Given the description of an element on the screen output the (x, y) to click on. 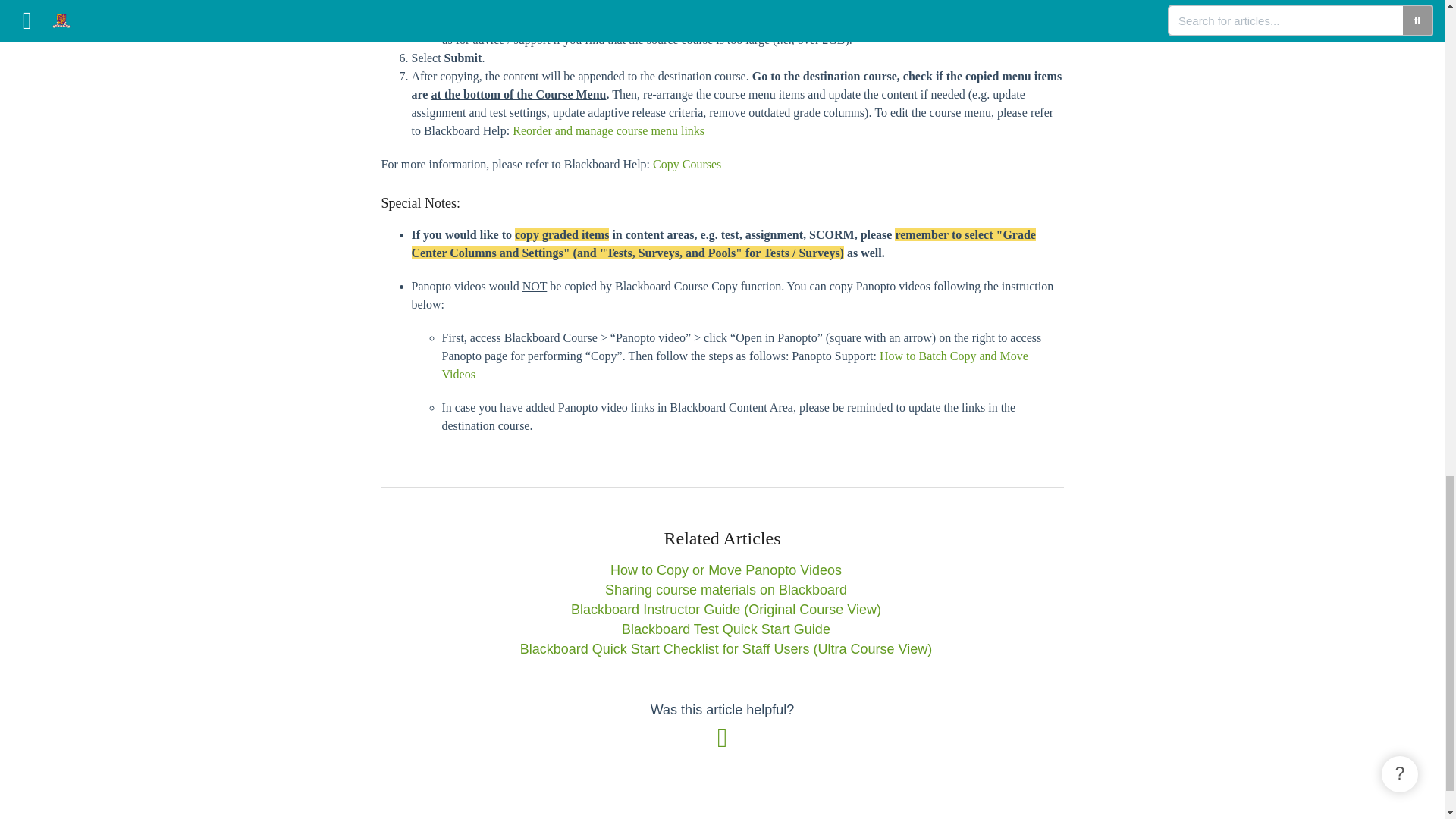
Helpful (721, 742)
